Given the description of an element on the screen output the (x, y) to click on. 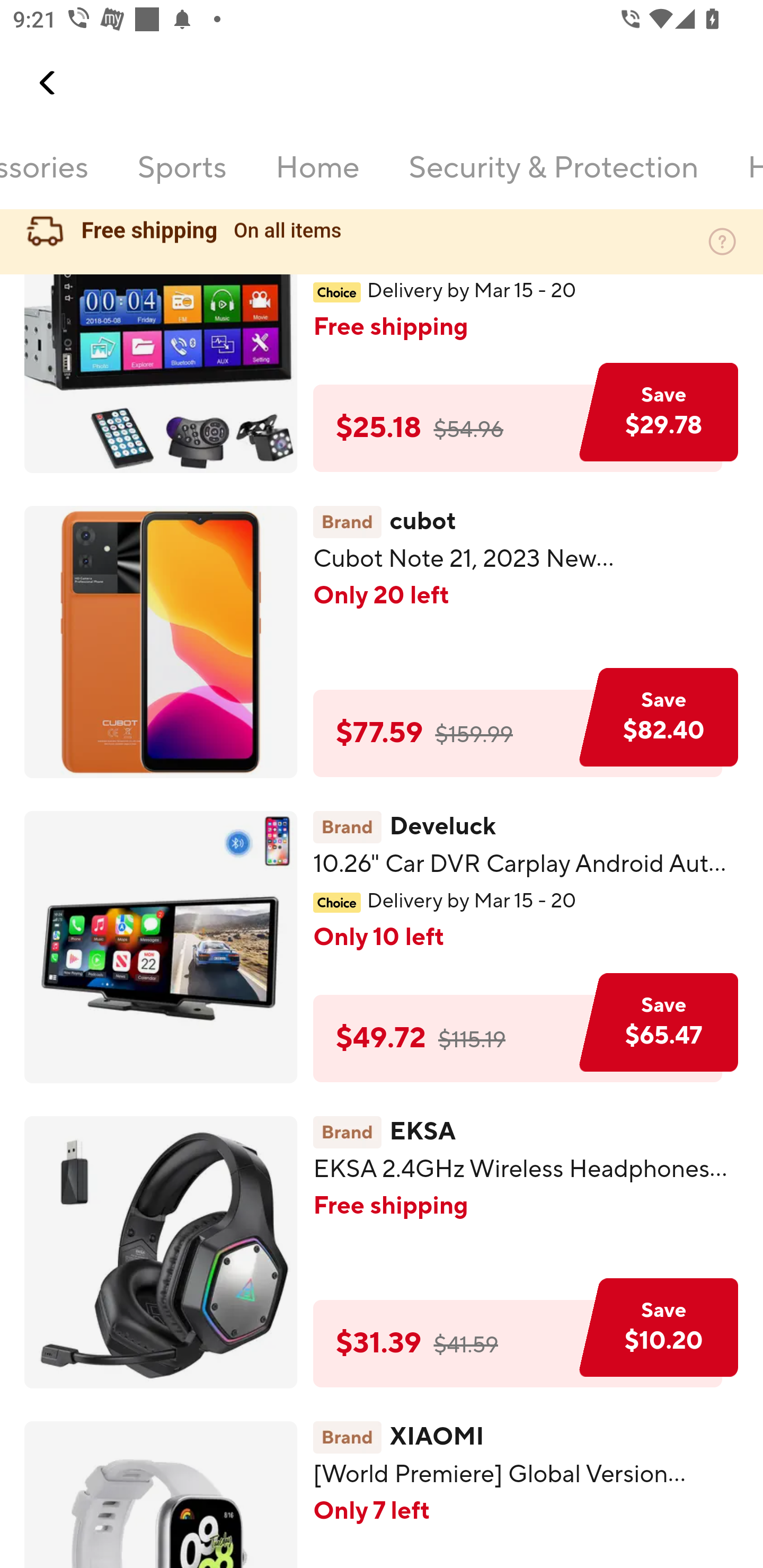
 (48, 82)
Phones & accessories (44, 178)
Sports (181, 178)
Home (317, 178)
Security & Protection (552, 178)
